Given the description of an element on the screen output the (x, y) to click on. 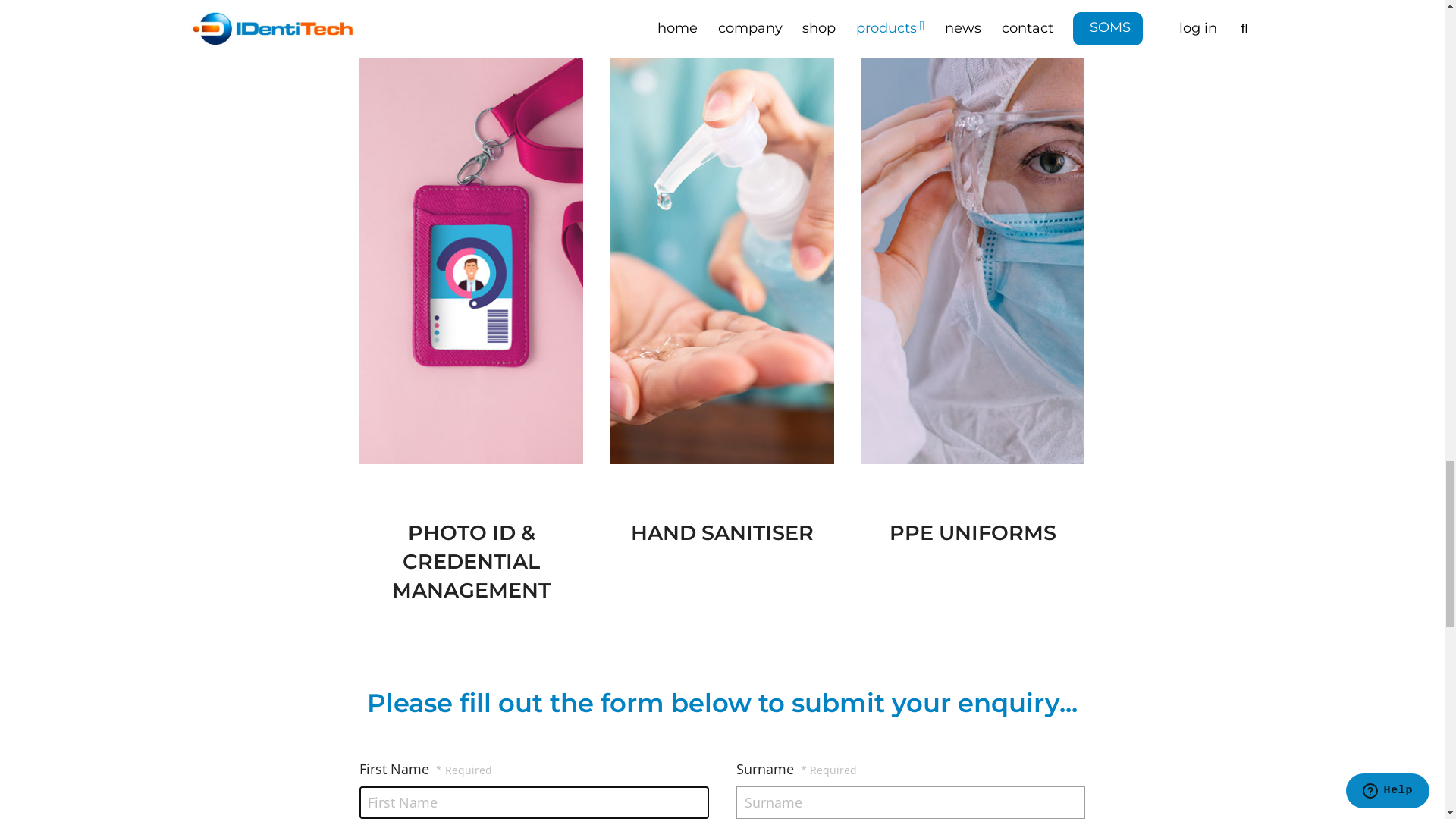
identitech covid safe Element type: hover (722, 273)
